Given the description of an element on the screen output the (x, y) to click on. 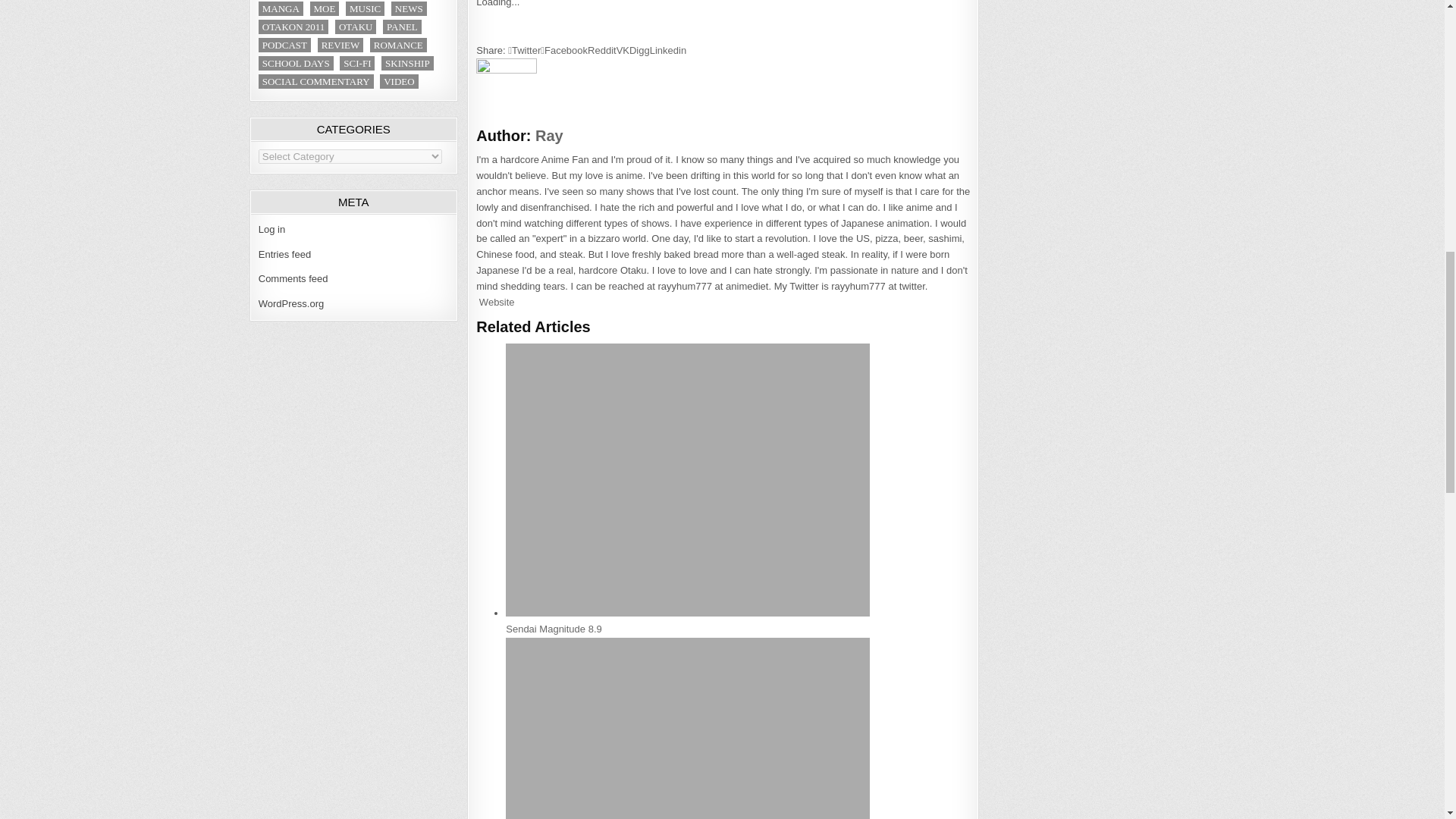
Share this on Facebook (564, 50)
Tweet This! (524, 50)
Share this on VK (621, 50)
Share this on Reddit (601, 50)
